Given the description of an element on the screen output the (x, y) to click on. 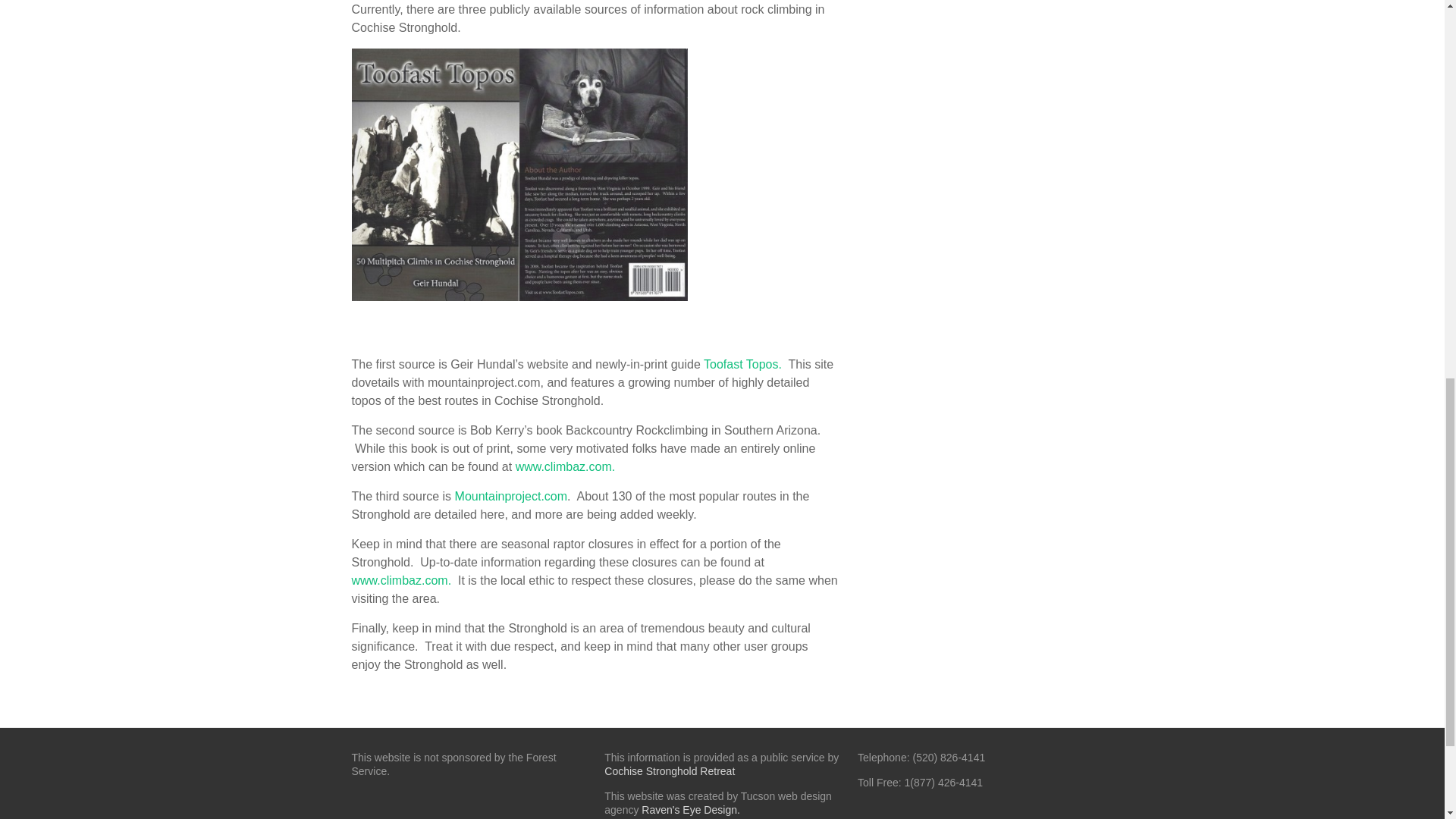
Toofast Topos. (742, 364)
Mountainproject.com (510, 495)
www.climbaz.com. (401, 580)
Cochise Stronghold Retreat (669, 770)
Raven's Eye Design. (690, 809)
www.climbaz.com. (565, 466)
